Given the description of an element on the screen output the (x, y) to click on. 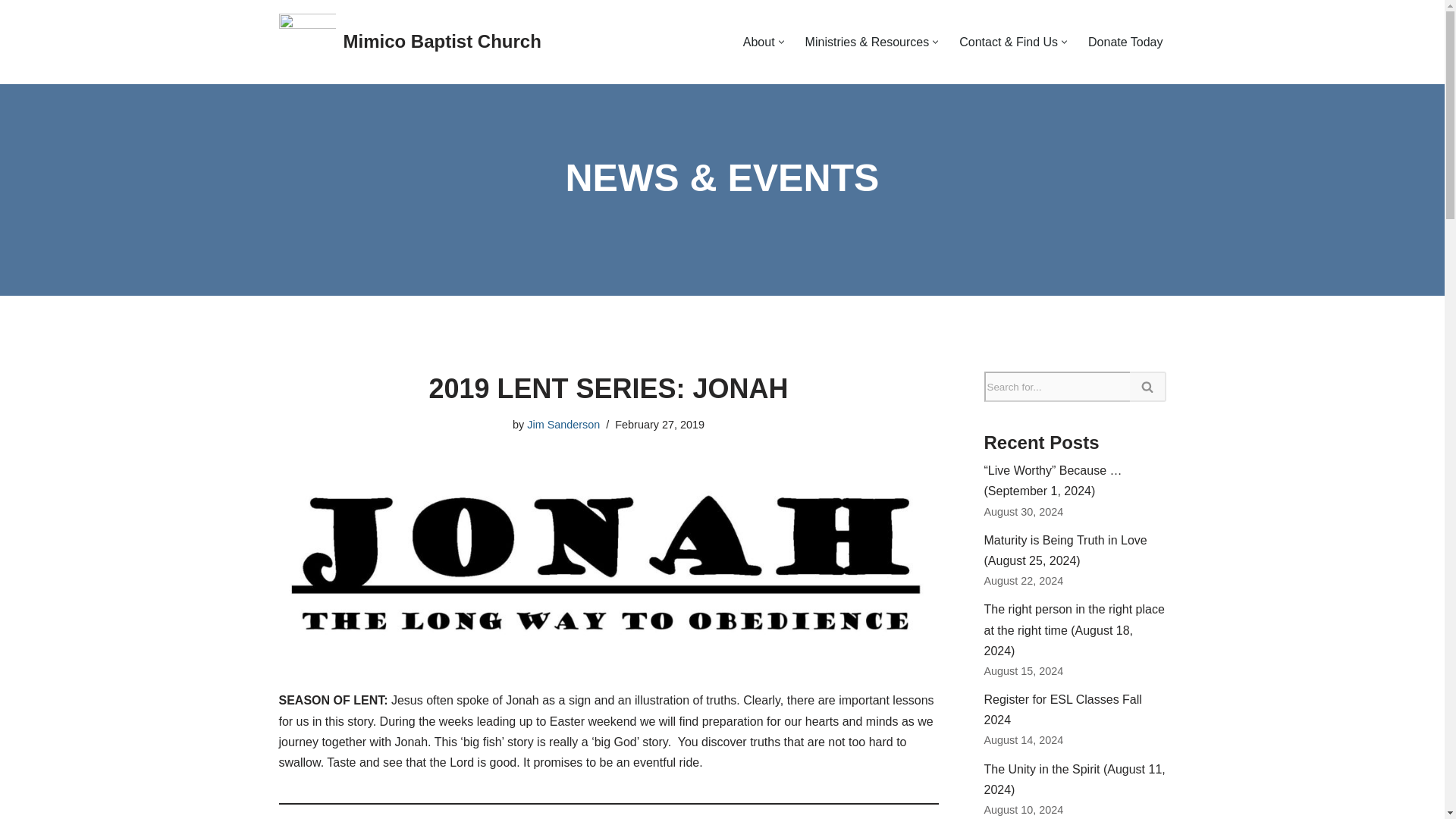
Donate Today (1124, 41)
Posts by Jim Sanderson (563, 424)
About (758, 41)
Skip to content (11, 31)
Mimico Baptist Church (410, 41)
